Given the description of an element on the screen output the (x, y) to click on. 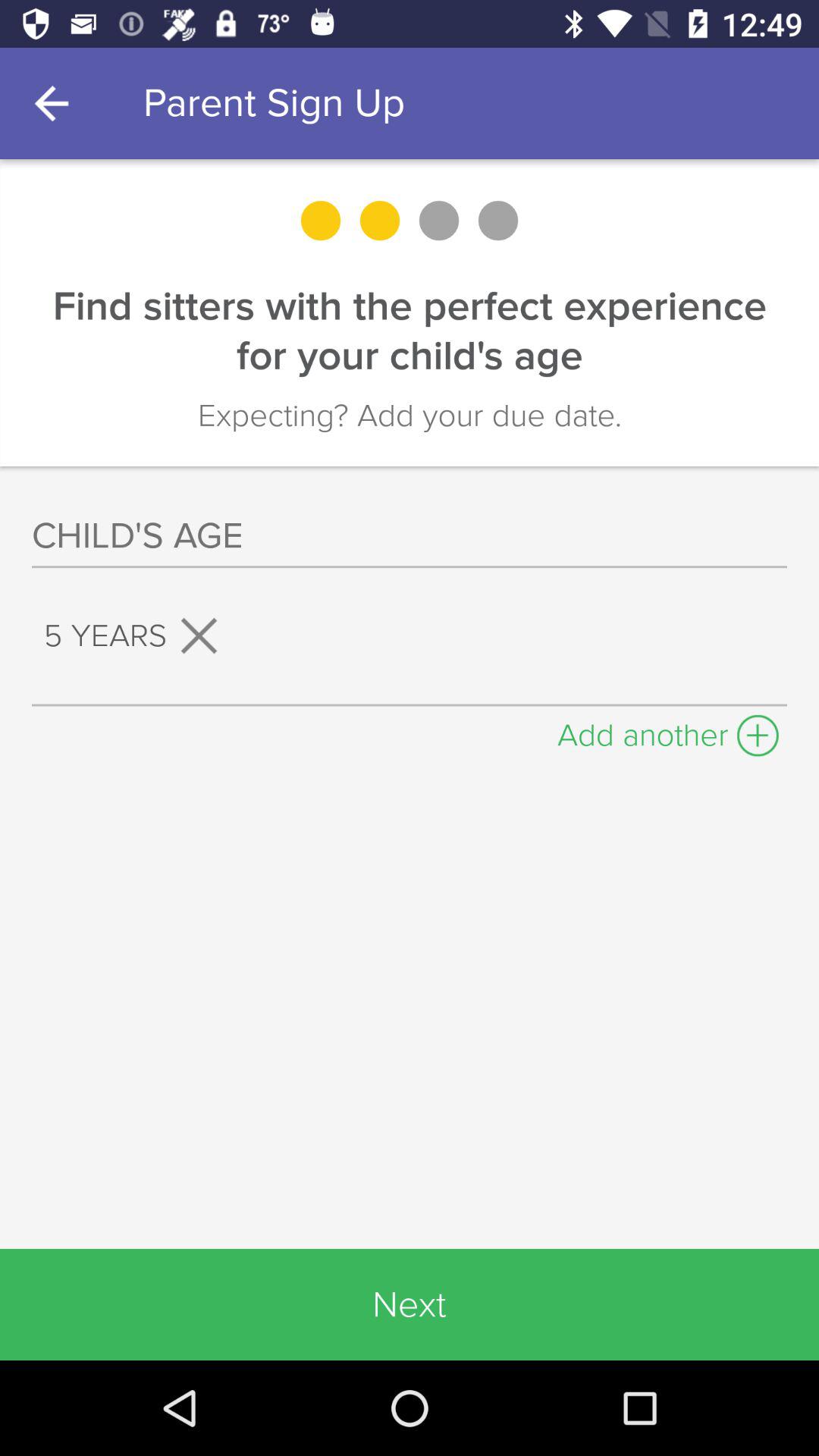
choose the 5 years on the left (136, 635)
